Given the description of an element on the screen output the (x, y) to click on. 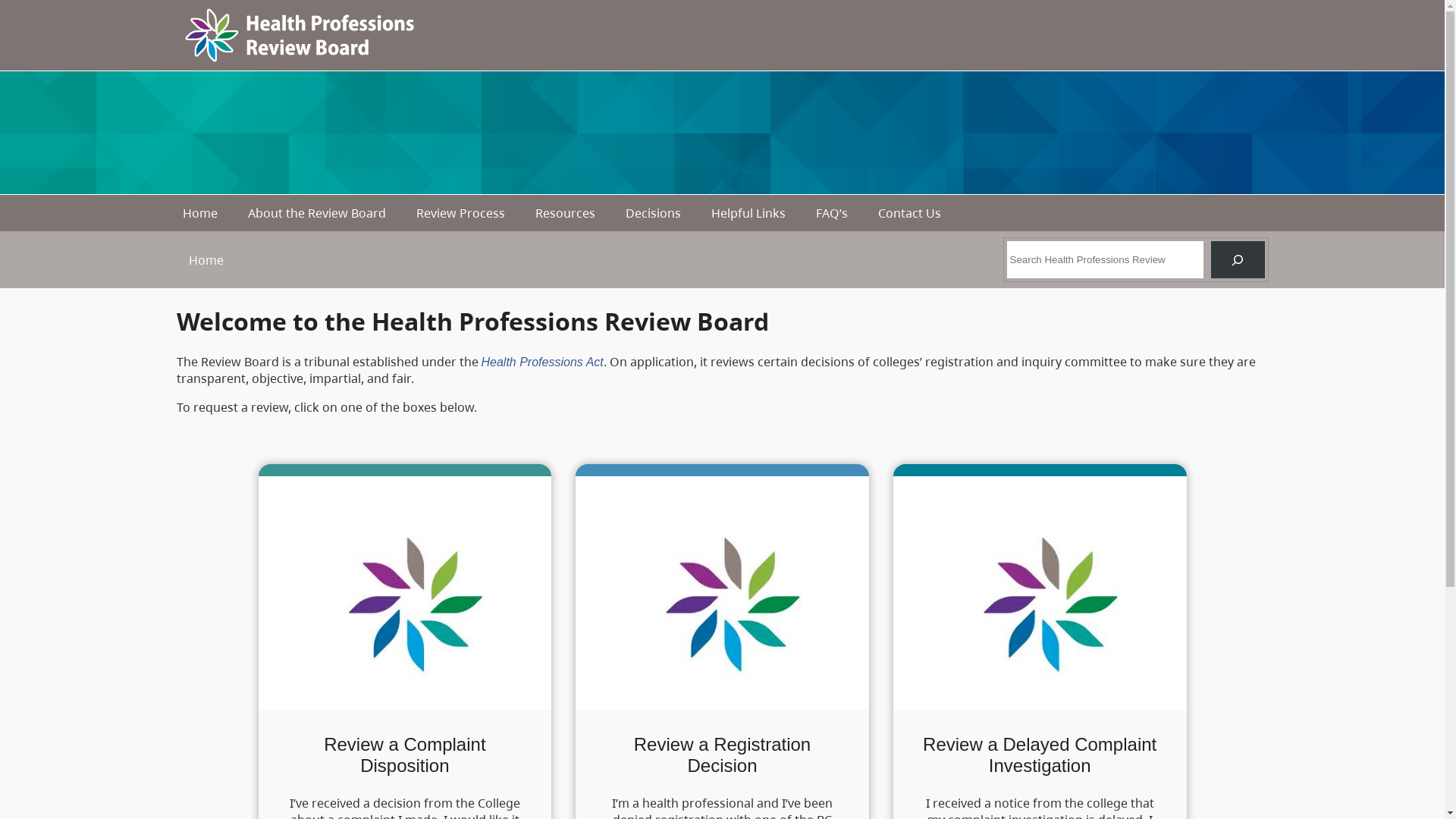
Helpful Links Element type: text (748, 212)
About the Review Board Element type: text (316, 212)
Contact Us Element type: text (909, 212)
Home Element type: text (199, 212)
Decisions Element type: text (653, 212)
Review Process Element type: text (460, 212)
Health Professions Act Element type: text (541, 361)
Resources Element type: text (565, 212)
